Given the description of an element on the screen output the (x, y) to click on. 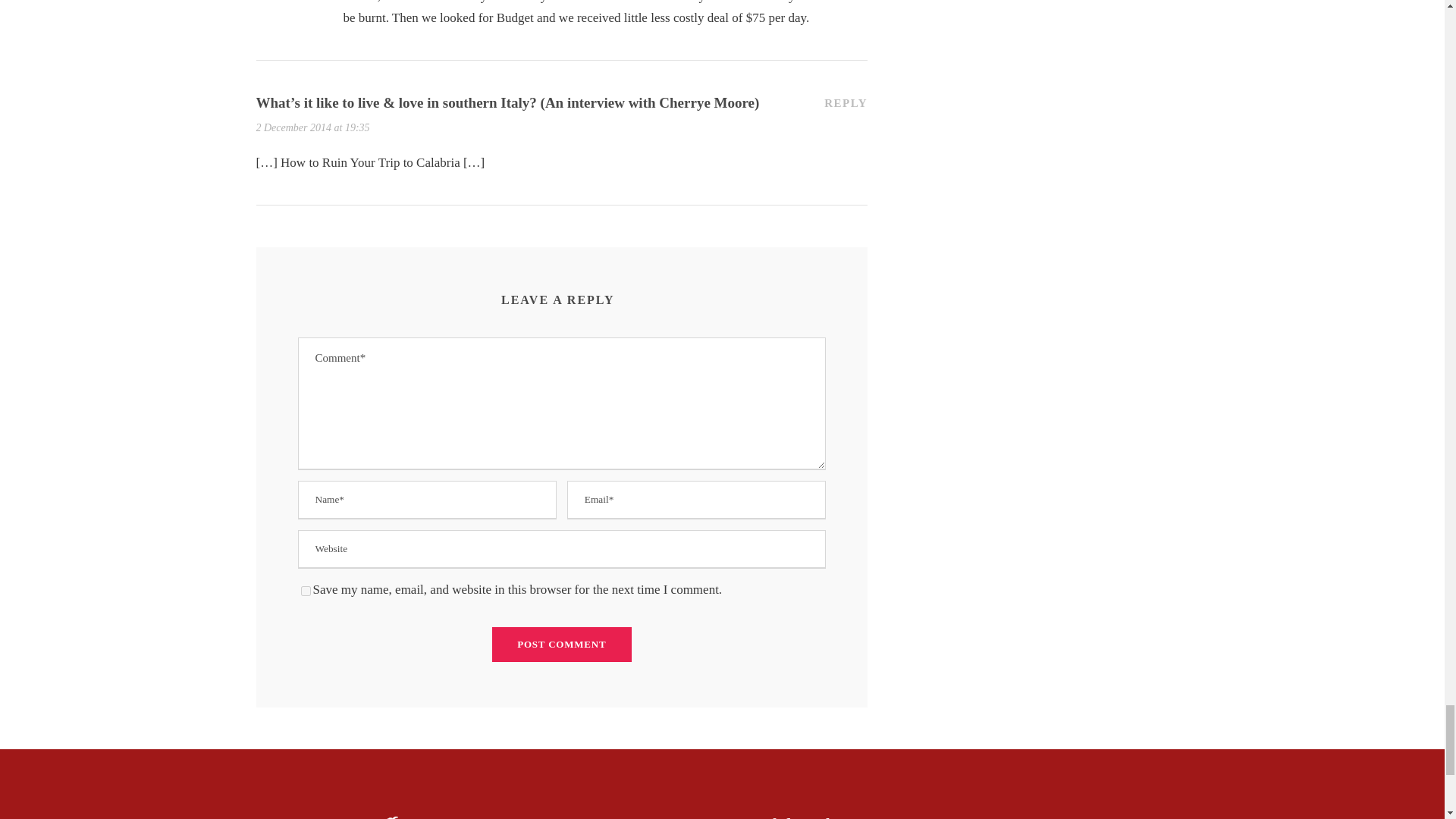
Post Comment (561, 644)
yes (304, 591)
